Given the description of an element on the screen output the (x, y) to click on. 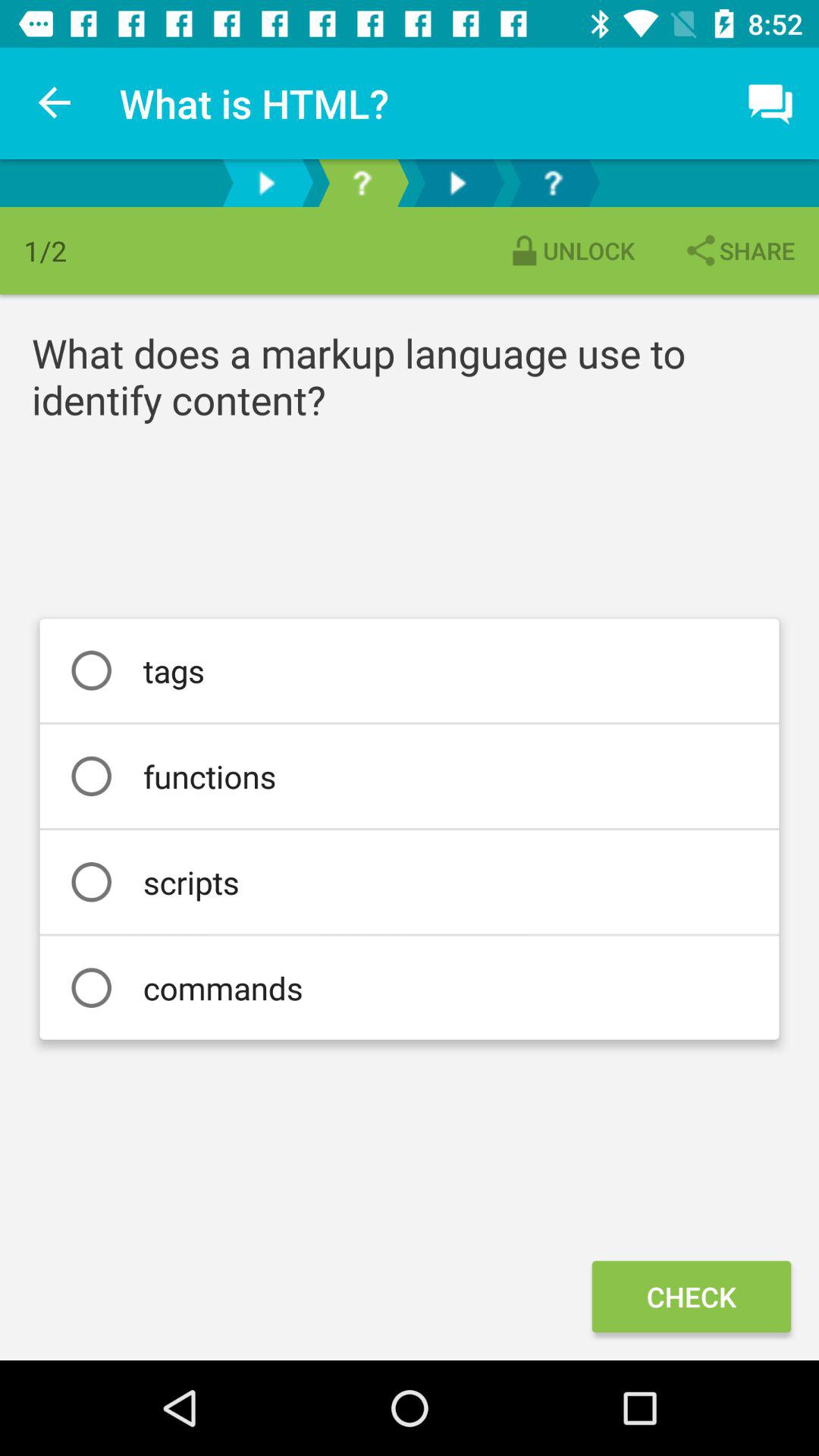
get suggestions about this feature (552, 183)
